Given the description of an element on the screen output the (x, y) to click on. 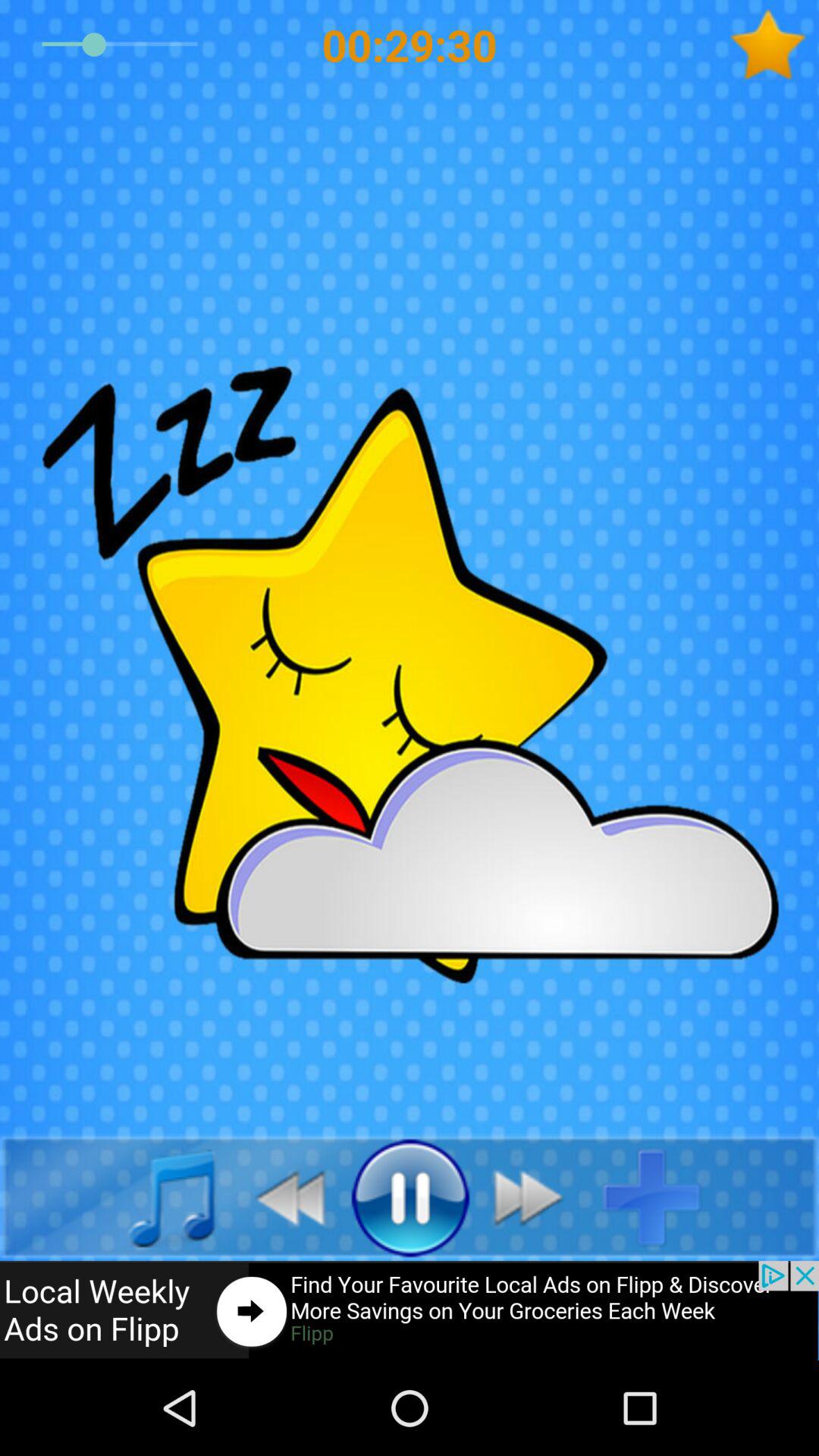
advertisement (409, 1310)
